Given the description of an element on the screen output the (x, y) to click on. 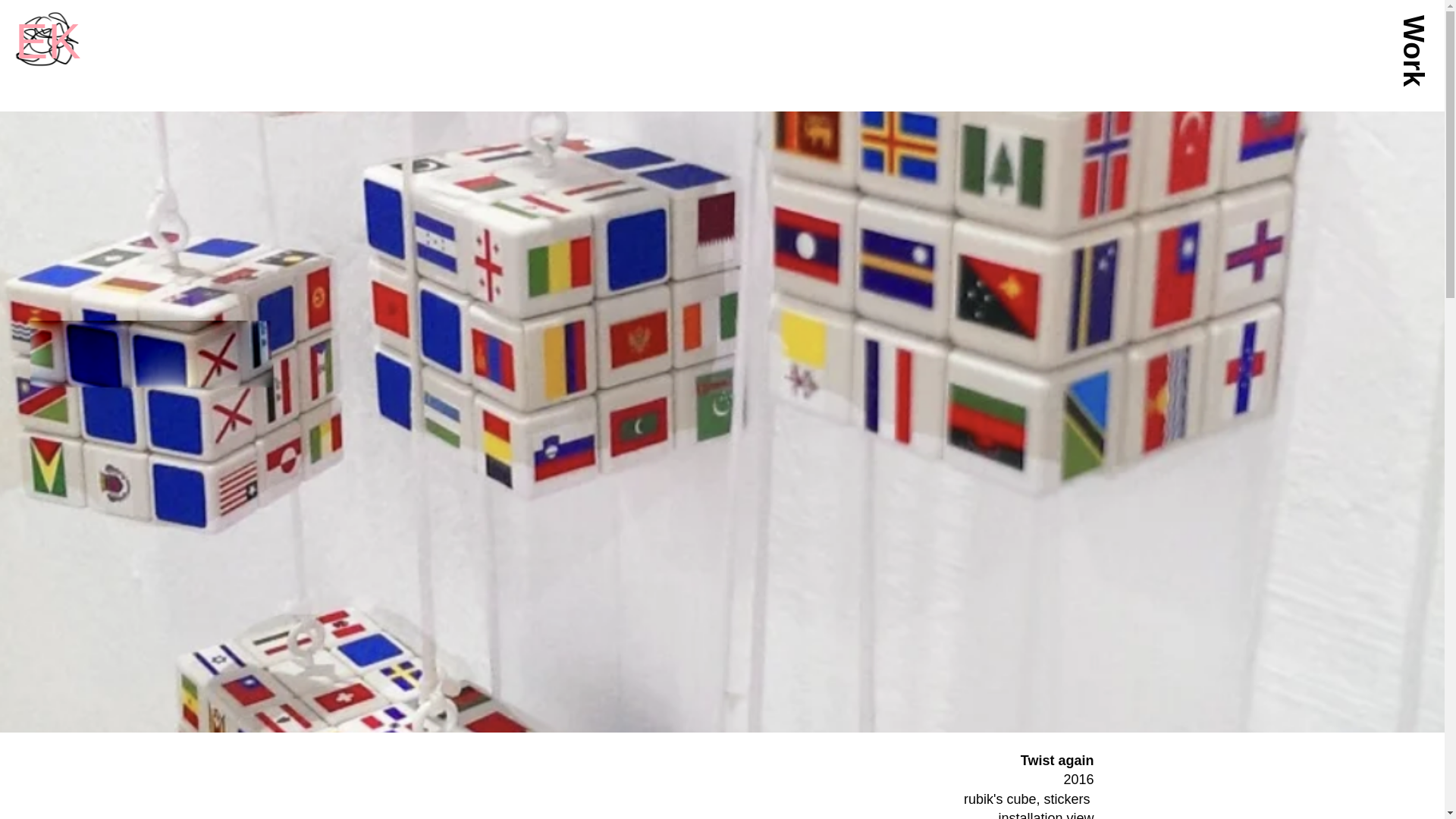
rubik's cube, stickers  (1028, 798)
EK (47, 40)
Funny Boy (46, 40)
